Given the description of an element on the screen output the (x, y) to click on. 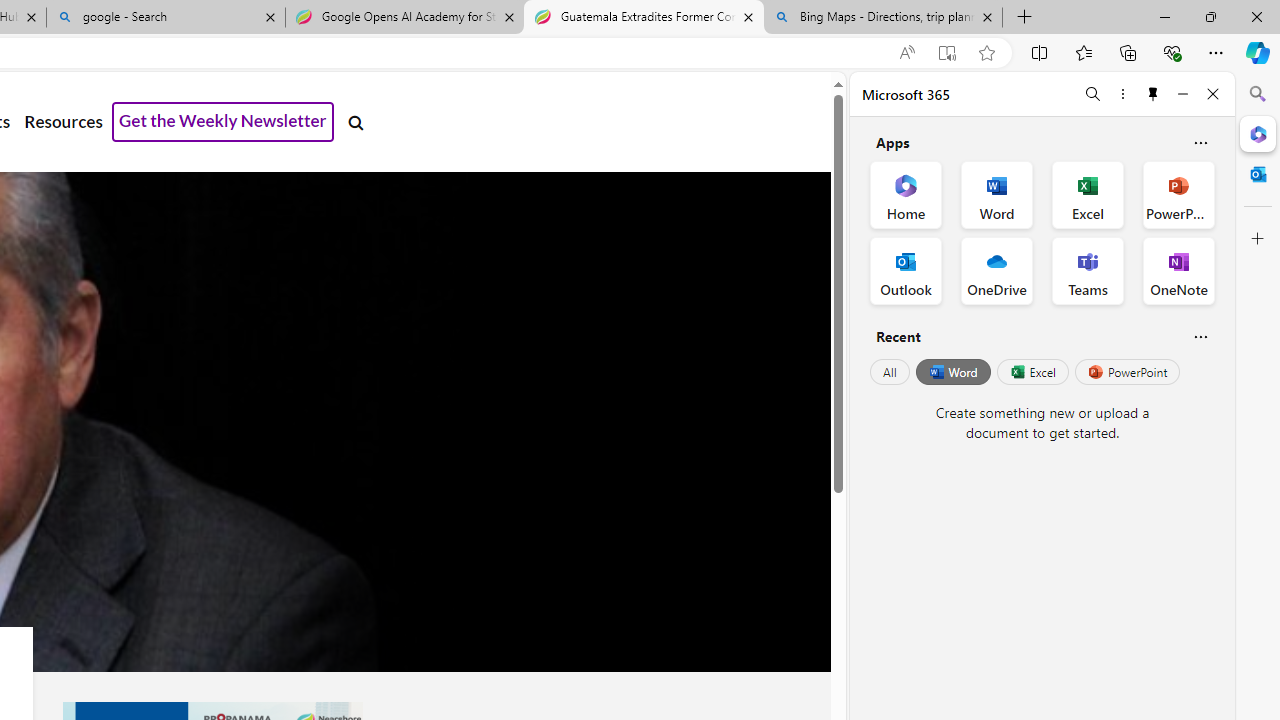
Resources (63, 121)
Is this helpful? (1200, 336)
Google Opens AI Academy for Startups - Nearshore Americas (404, 17)
PowerPoint Office App (1178, 194)
Resources (63, 121)
Home Office App (906, 194)
Outlook Office App (906, 270)
